Given the description of an element on the screen output the (x, y) to click on. 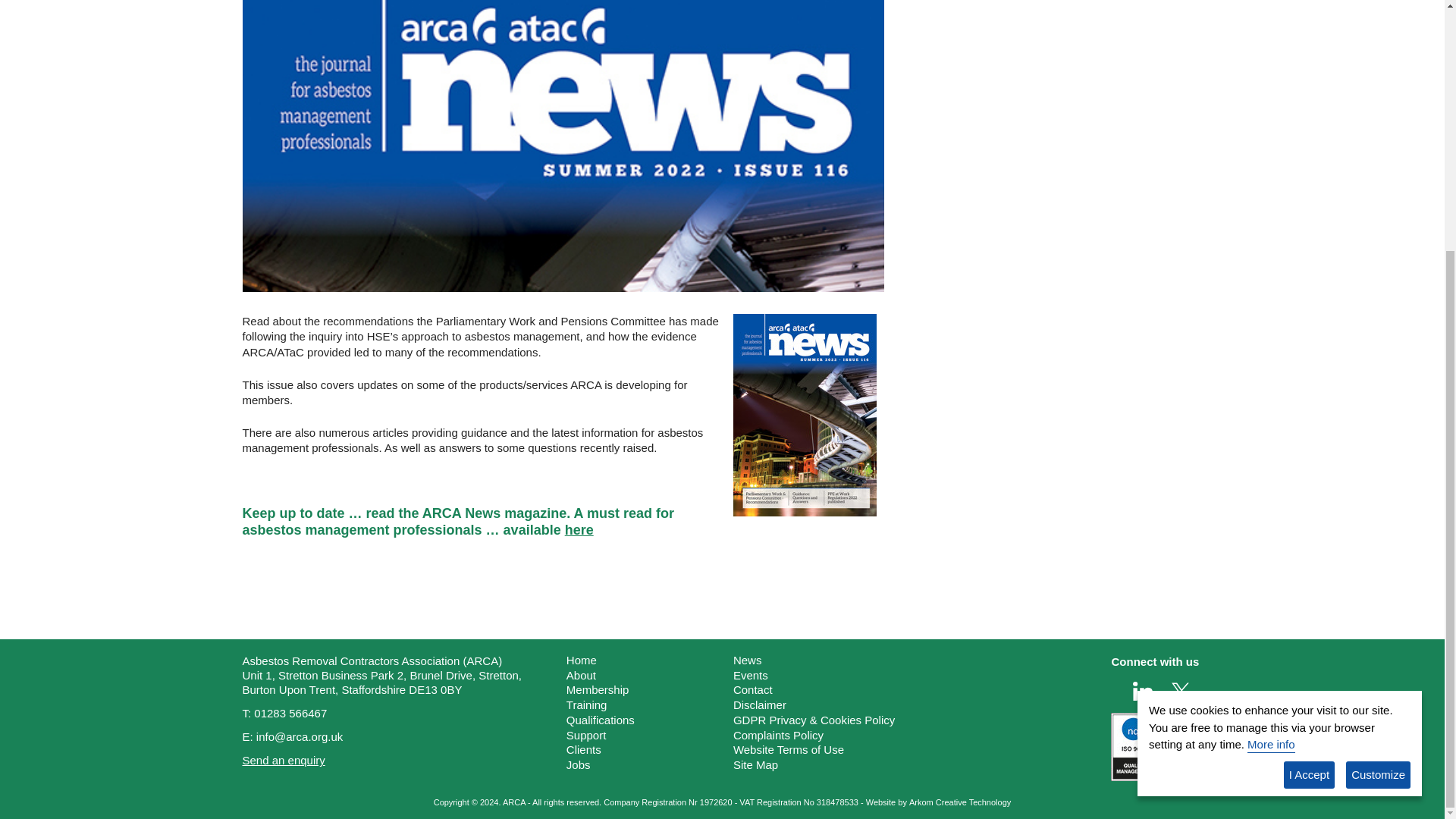
X (1179, 690)
Email us at:01283 566467 (289, 712)
LinkedIn (1142, 690)
Contact Us (283, 759)
ARCA News 116 online (579, 530)
Site created by Arkom Creative Technology (959, 802)
